Given the description of an element on the screen output the (x, y) to click on. 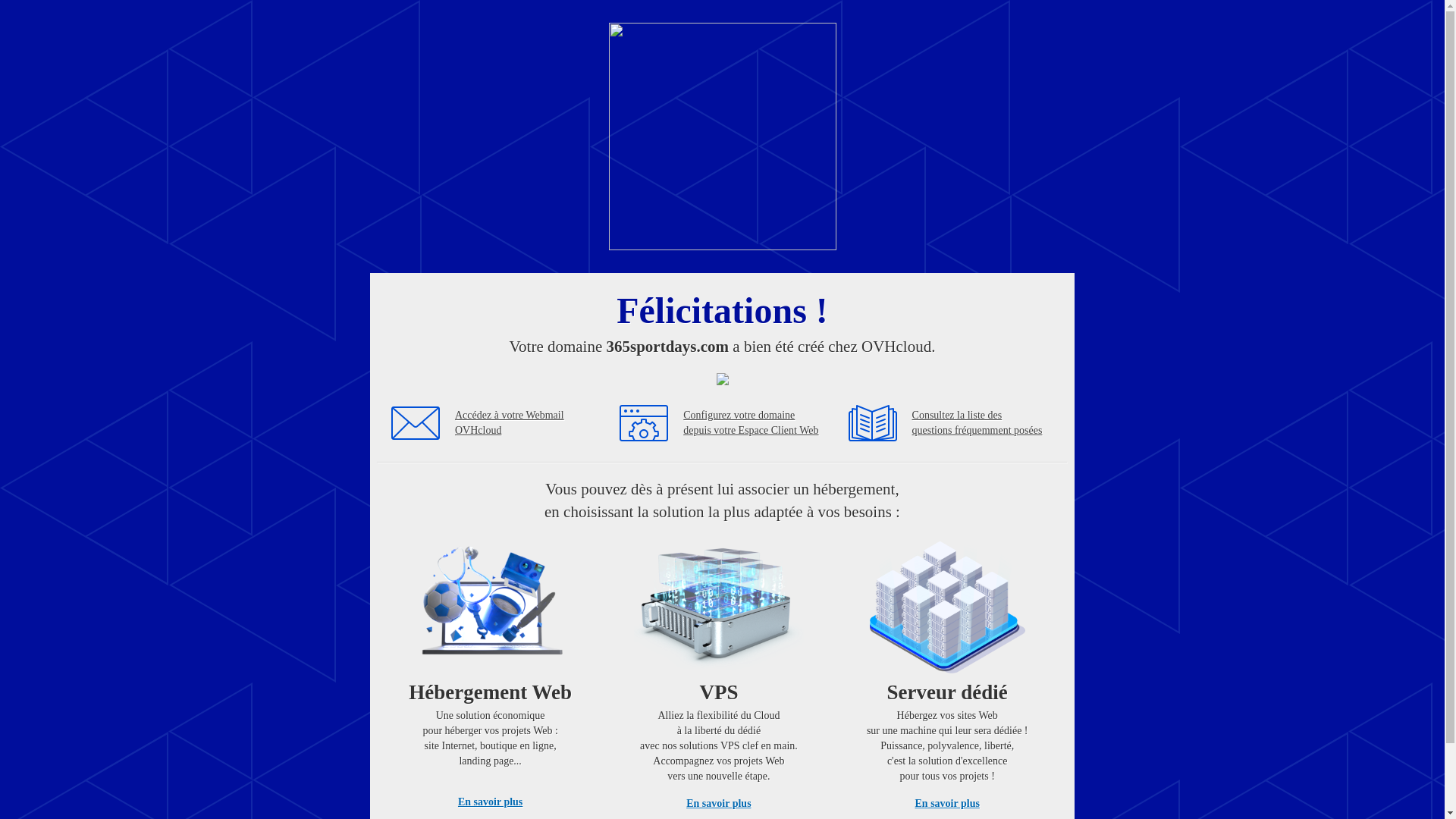
En savoir plus Element type: text (718, 803)
Configurez votre domaine
depuis votre Espace Client Web Element type: text (750, 422)
OVHcloud Element type: hover (721, 245)
En savoir plus Element type: text (490, 801)
VPS Element type: hover (718, 669)
En savoir plus Element type: text (947, 803)
